Given the description of an element on the screen output the (x, y) to click on. 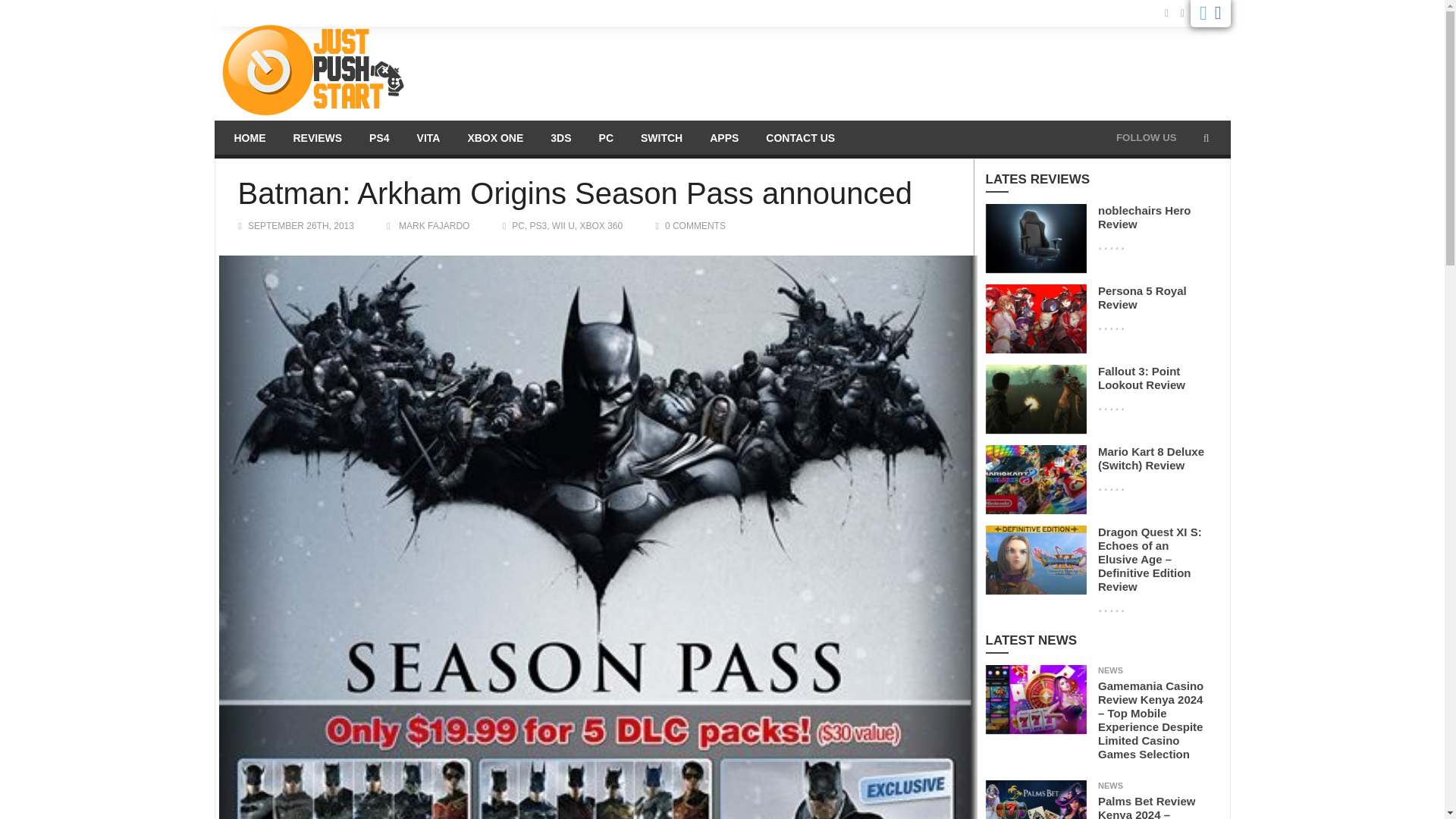
View all posts in PS3 (538, 225)
gorgeous (1110, 244)
View all posts in XBOX 360 (601, 225)
View all posts in Wii U (563, 225)
View all posts in PC (518, 225)
